Given the description of an element on the screen output the (x, y) to click on. 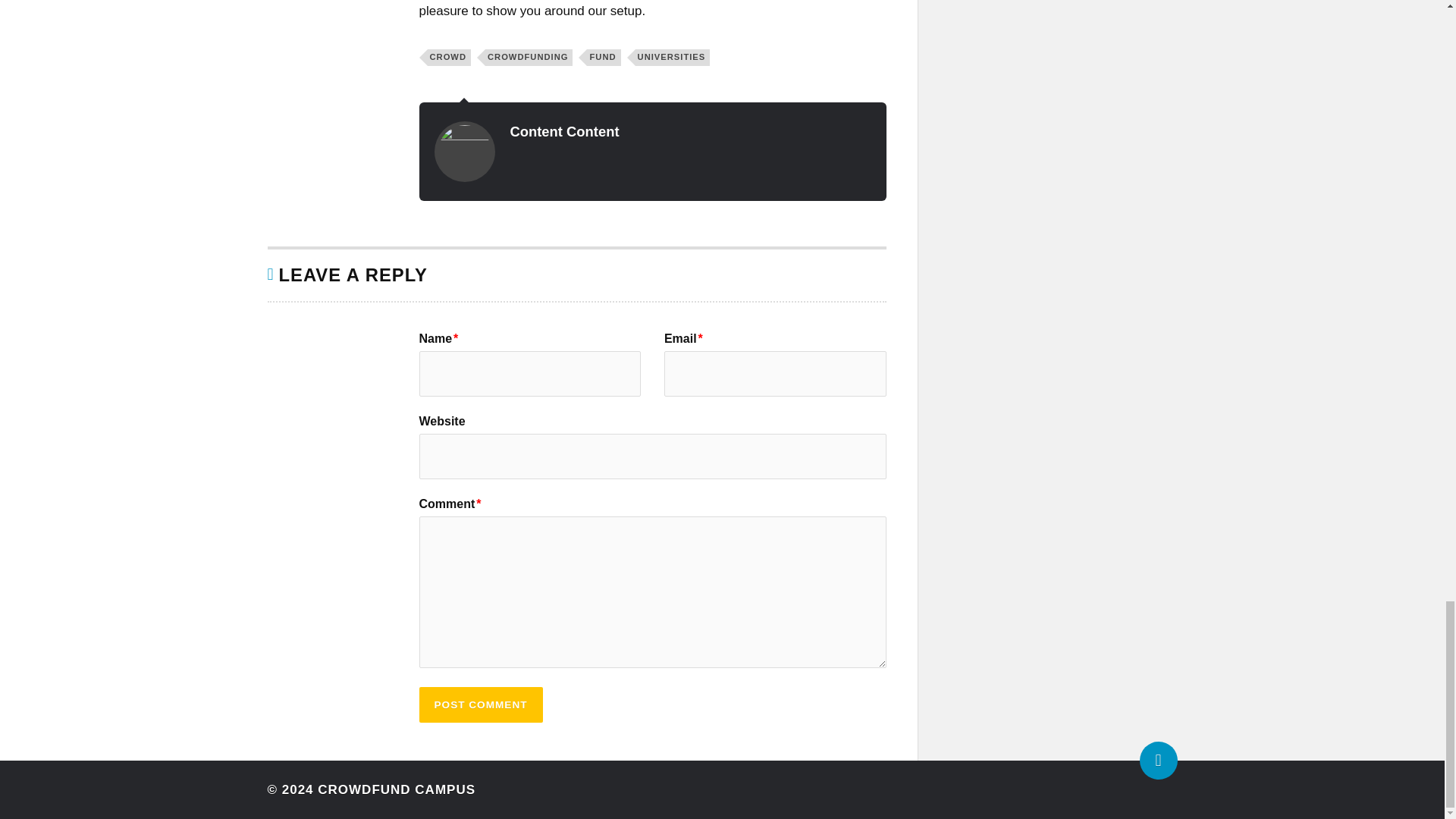
Content Content (563, 131)
FUND (603, 57)
To the top (1157, 760)
Post Comment (480, 704)
Post Comment (480, 704)
CROWDFUNDING (528, 57)
CROWD (449, 57)
UNIVERSITIES (672, 57)
